Given the description of an element on the screen output the (x, y) to click on. 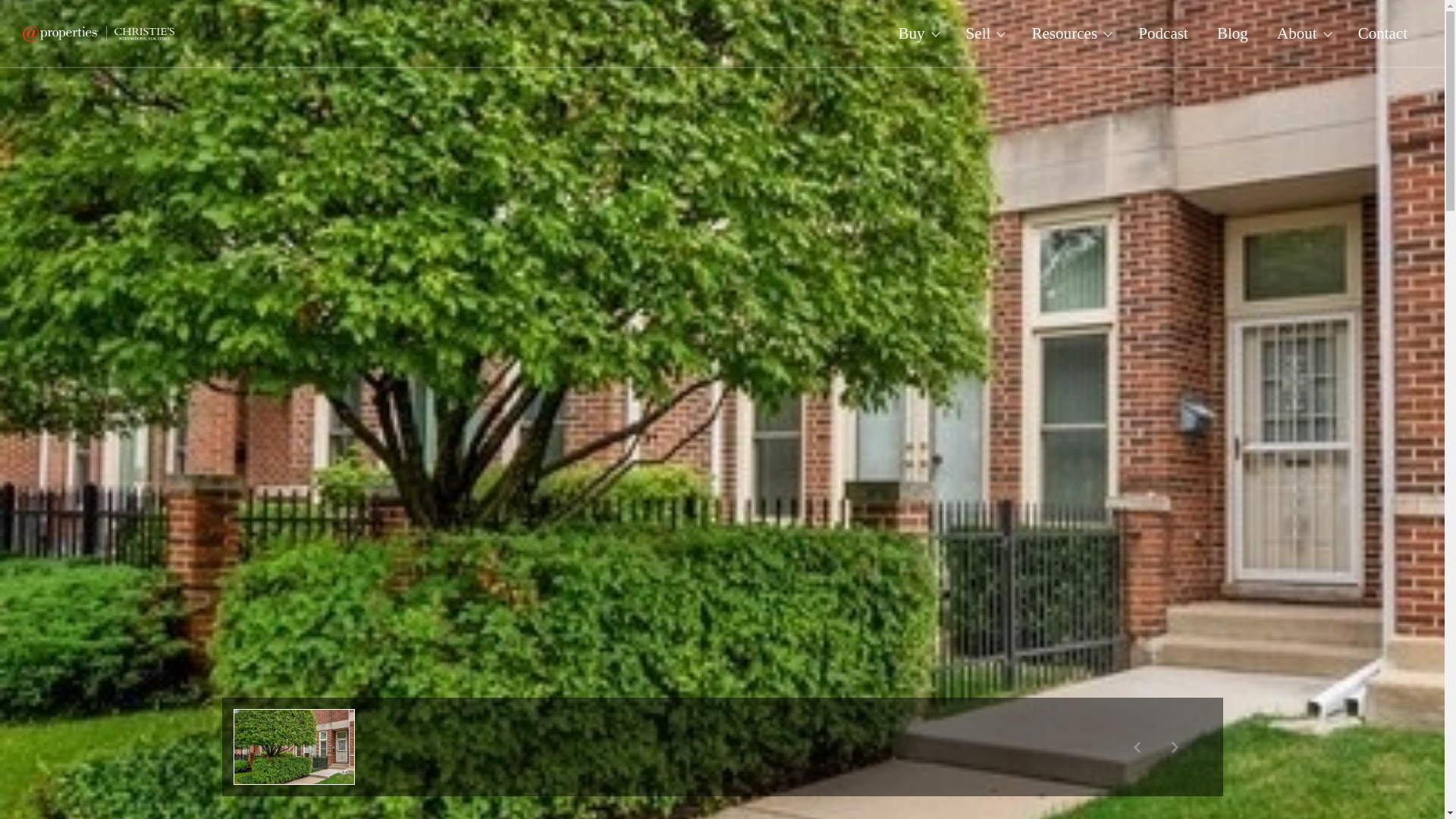
Podcast (1163, 33)
Sell (984, 33)
Buy (916, 33)
Resources (1070, 33)
About (1302, 33)
Contact (1382, 33)
Blog (1232, 33)
